Given the description of an element on the screen output the (x, y) to click on. 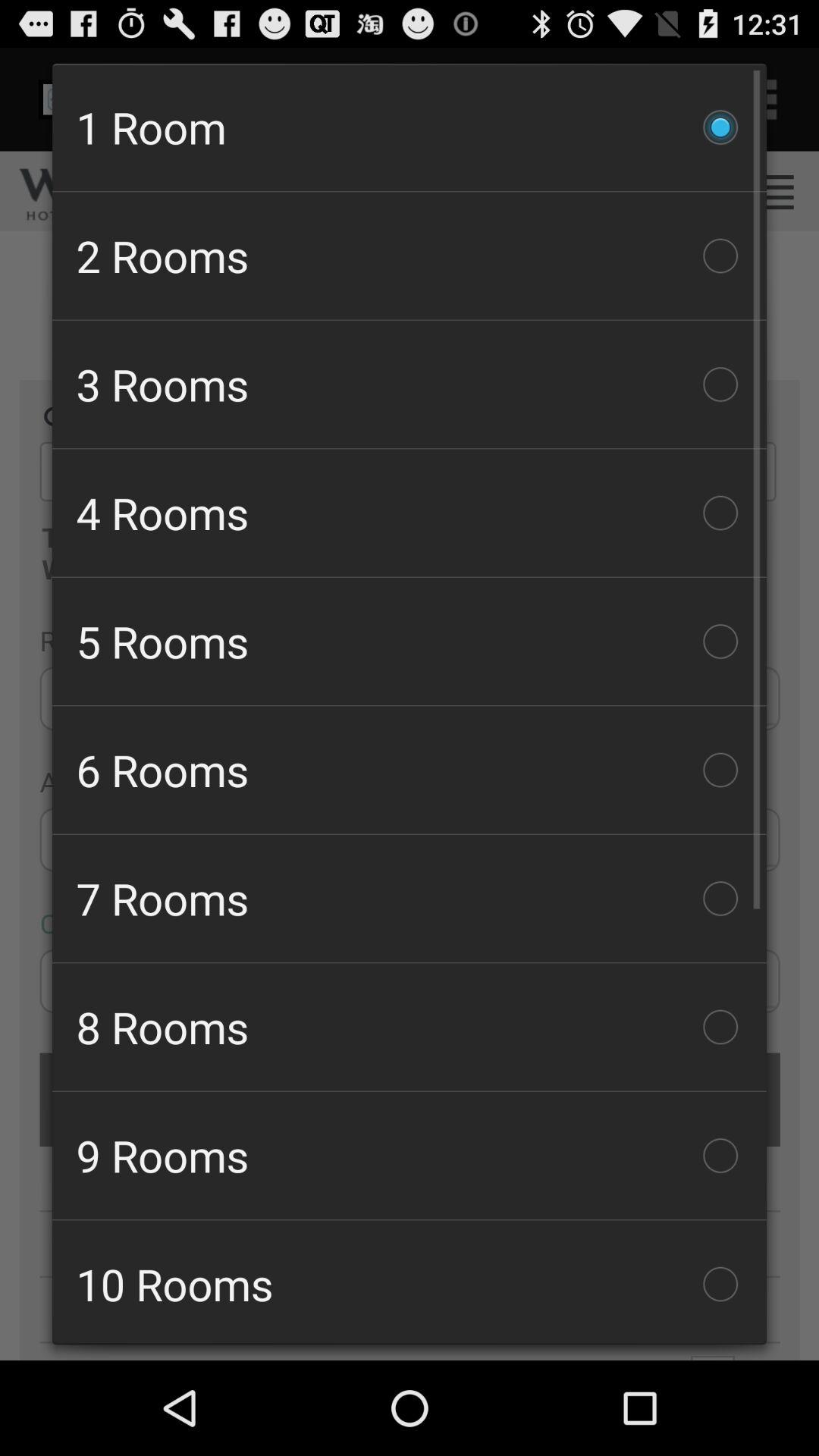
select the item below the 2 rooms item (409, 384)
